Given the description of an element on the screen output the (x, y) to click on. 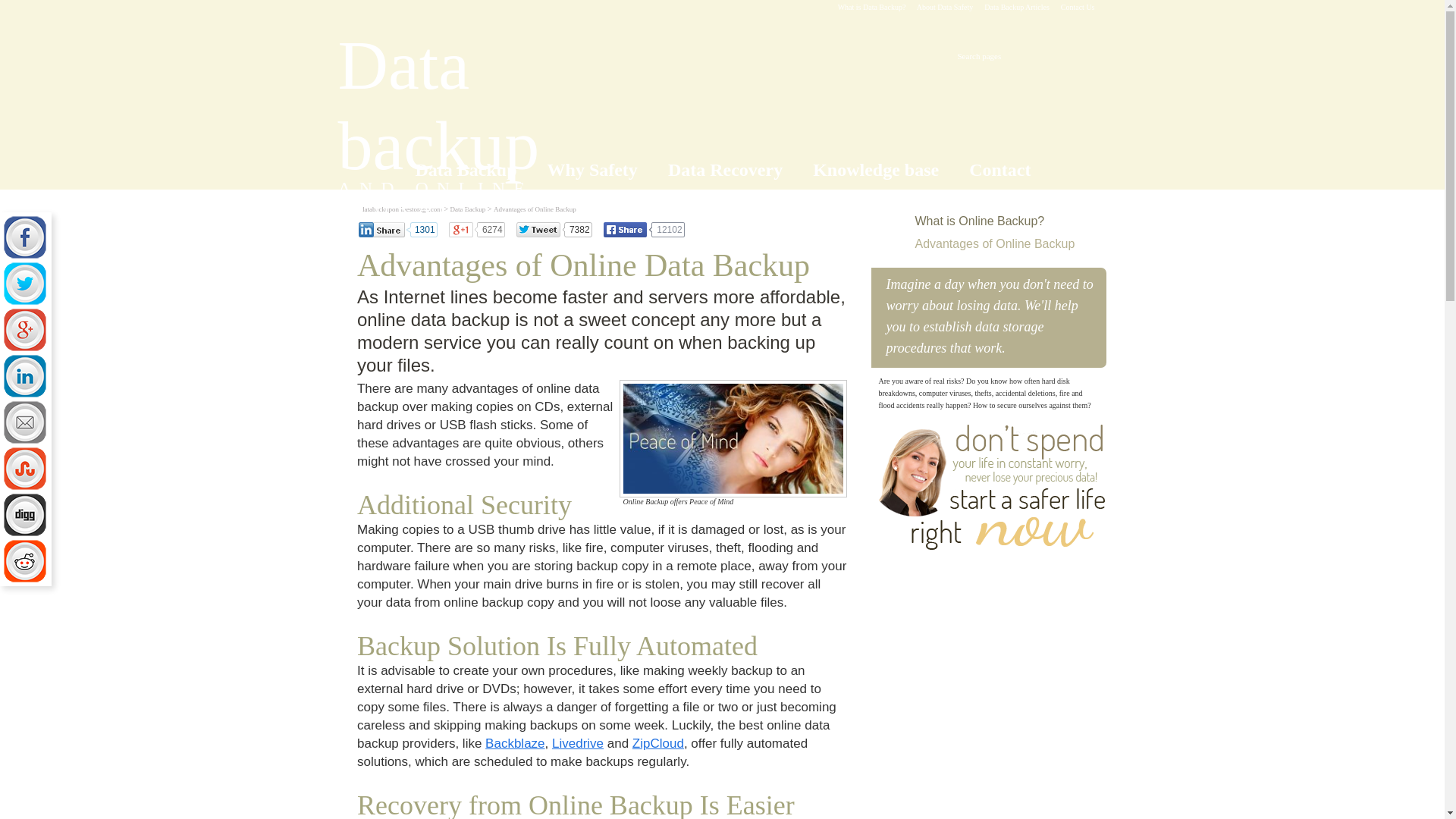
What is Data Backup? (871, 7)
Advantages of Online Backup (995, 245)
ZipCloud (657, 743)
Contact Us (1077, 7)
databackuponlinestorage.com (402, 208)
About Data Safety (944, 7)
Data Backup (467, 208)
Contact (499, 118)
Data Backup (1000, 169)
What is Online Backup? (465, 169)
Search pages (995, 222)
Advantages of Online Backup (992, 55)
Why Safety (534, 208)
Livedrive (592, 169)
